Given the description of an element on the screen output the (x, y) to click on. 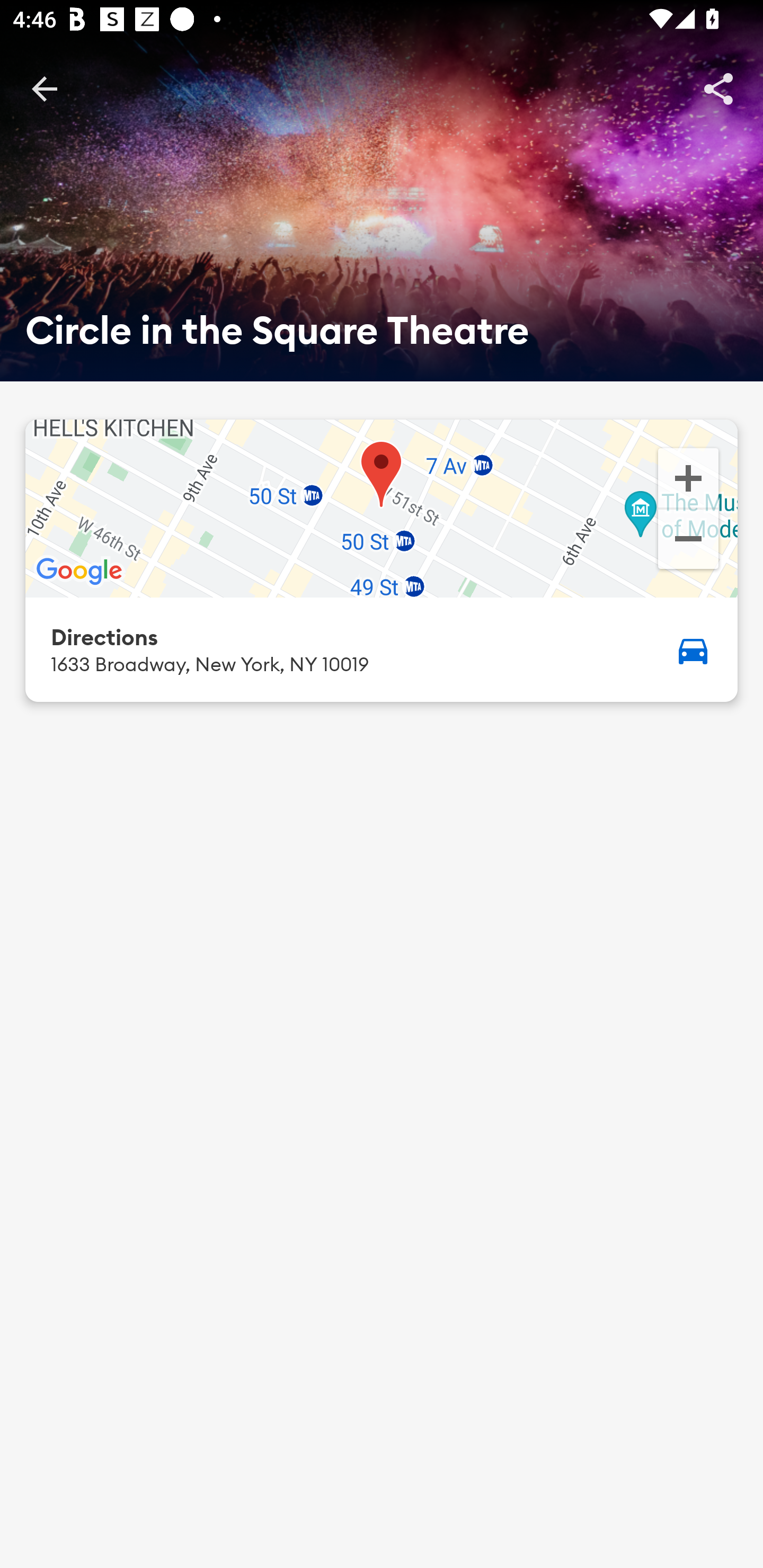
BackButton (44, 88)
Share (718, 88)
Zoom in (687, 476)
Zoom out (687, 540)
Directions 1633 Broadway, New York, NY 10019 (381, 649)
